Given the description of an element on the screen output the (x, y) to click on. 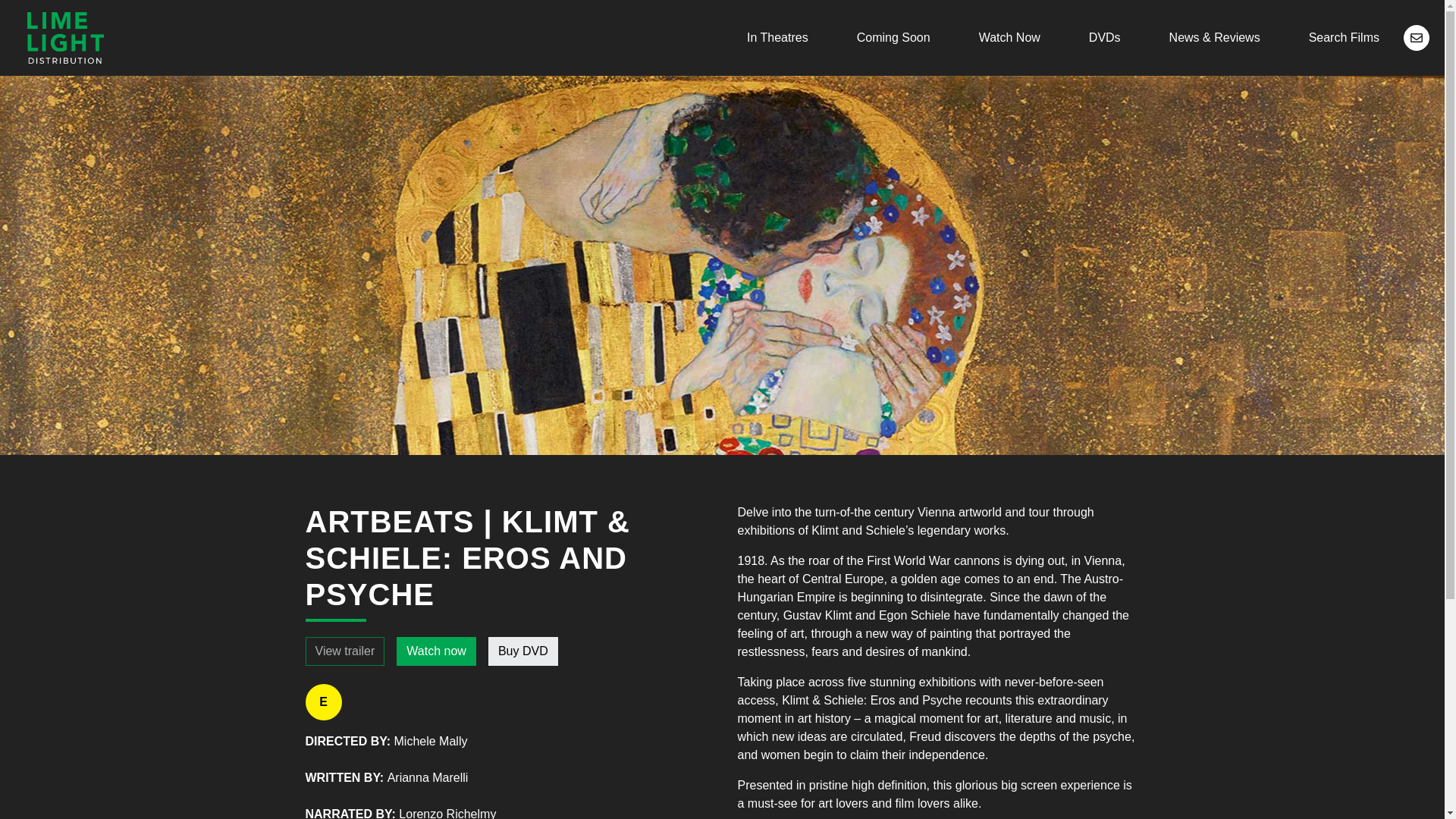
Watch now (436, 651)
Buy DVD (522, 651)
In Theatres (777, 38)
Search Films (1343, 38)
Coming Soon (893, 38)
View trailer (344, 651)
Coming Soon (893, 38)
DVDs (1104, 38)
In Theatres (777, 38)
Search Films (1343, 38)
DVDs (1104, 38)
Watch Now (1009, 38)
Watch Now (1009, 38)
Subscribe to our newsletter (1416, 37)
